Given the description of an element on the screen output the (x, y) to click on. 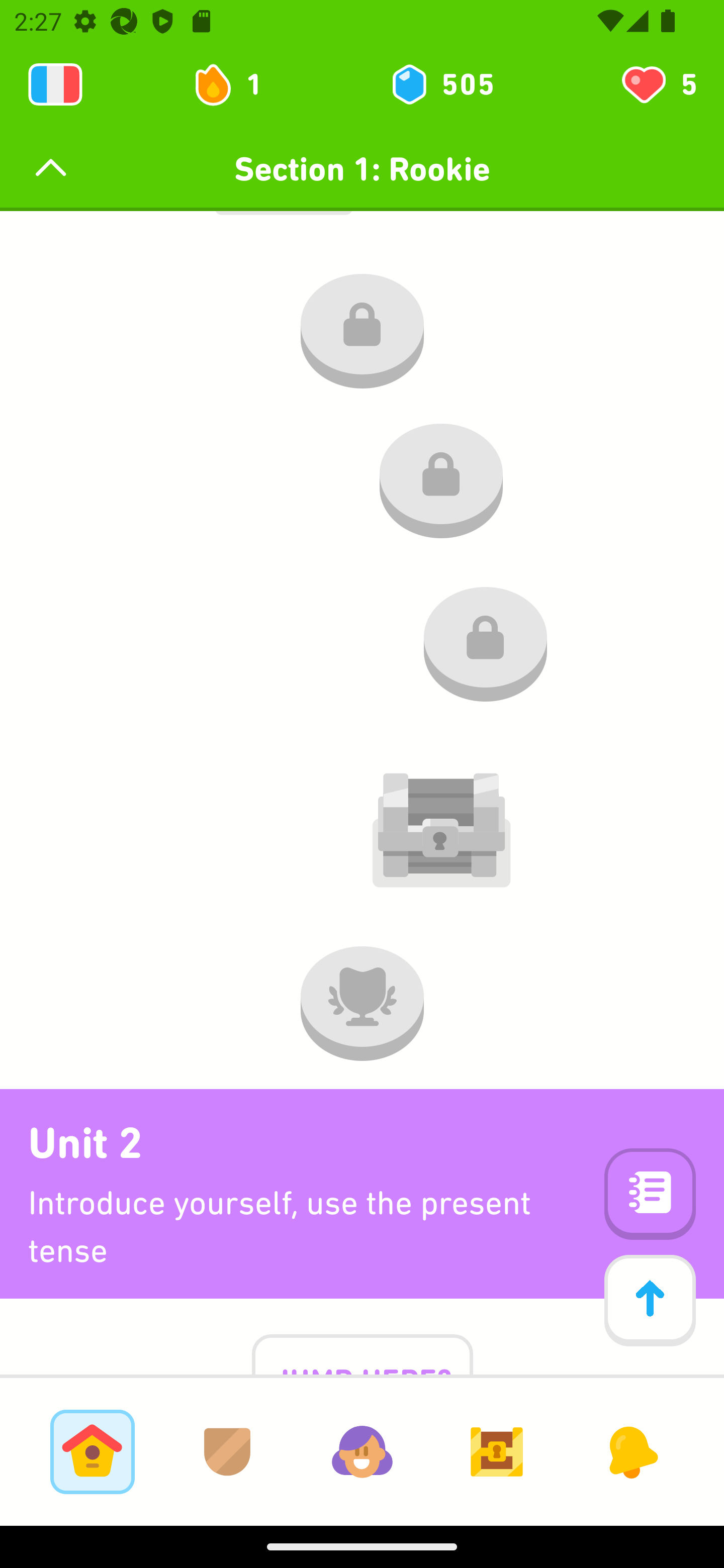
Learning 2131888976 (55, 84)
1 day streak 1 (236, 84)
505 (441, 84)
You have 5 hearts left 5 (657, 84)
Section 1: Rookie (362, 169)
Learn Tab (91, 1451)
Leagues Tab (227, 1451)
Profile Tab (361, 1451)
Goals Tab (496, 1451)
News Tab (631, 1451)
